Given the description of an element on the screen output the (x, y) to click on. 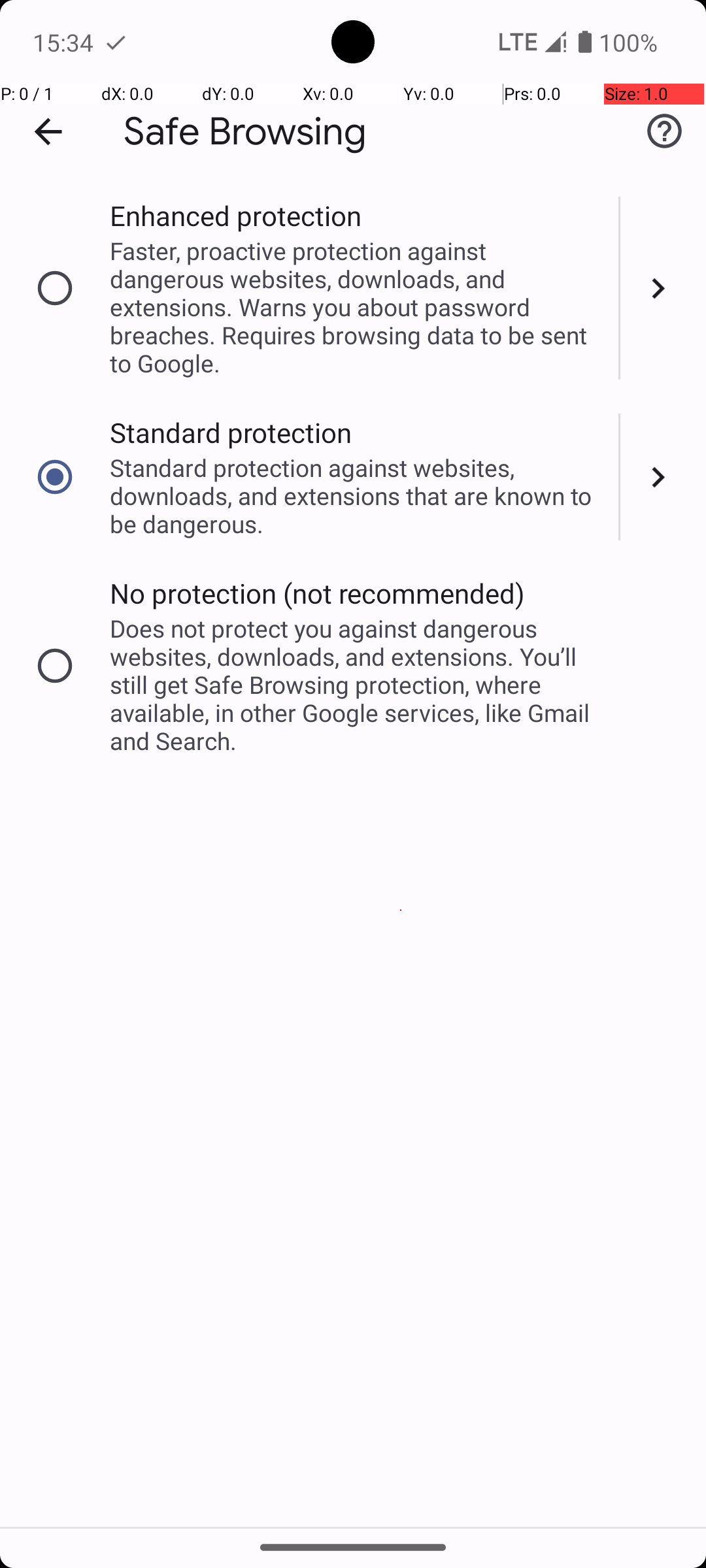
Safe Browsing Element type: android.widget.TextView (244, 131)
Enhanced protection Element type: android.widget.TextView (235, 214)
Faster, proactive protection against dangerous websites, downloads, and extensions. Warns you about password breaches. Requires browsing data to be sent to Google. Element type: android.widget.TextView (355, 306)
Expand Element type: android.widget.ImageButton (663, 287)
Standard protection Element type: android.widget.TextView (230, 431)
Standard protection against websites, downloads, and extensions that are known to be dangerous. Element type: android.widget.TextView (355, 495)
No protection (not recommended) Element type: android.widget.TextView (317, 592)
Does not protect you against dangerous websites, downloads, and extensions. You’ll still get Safe Browsing protection, where available, in other Google services, like Gmail and Search. Element type: android.widget.TextView (355, 684)
